Given the description of an element on the screen output the (x, y) to click on. 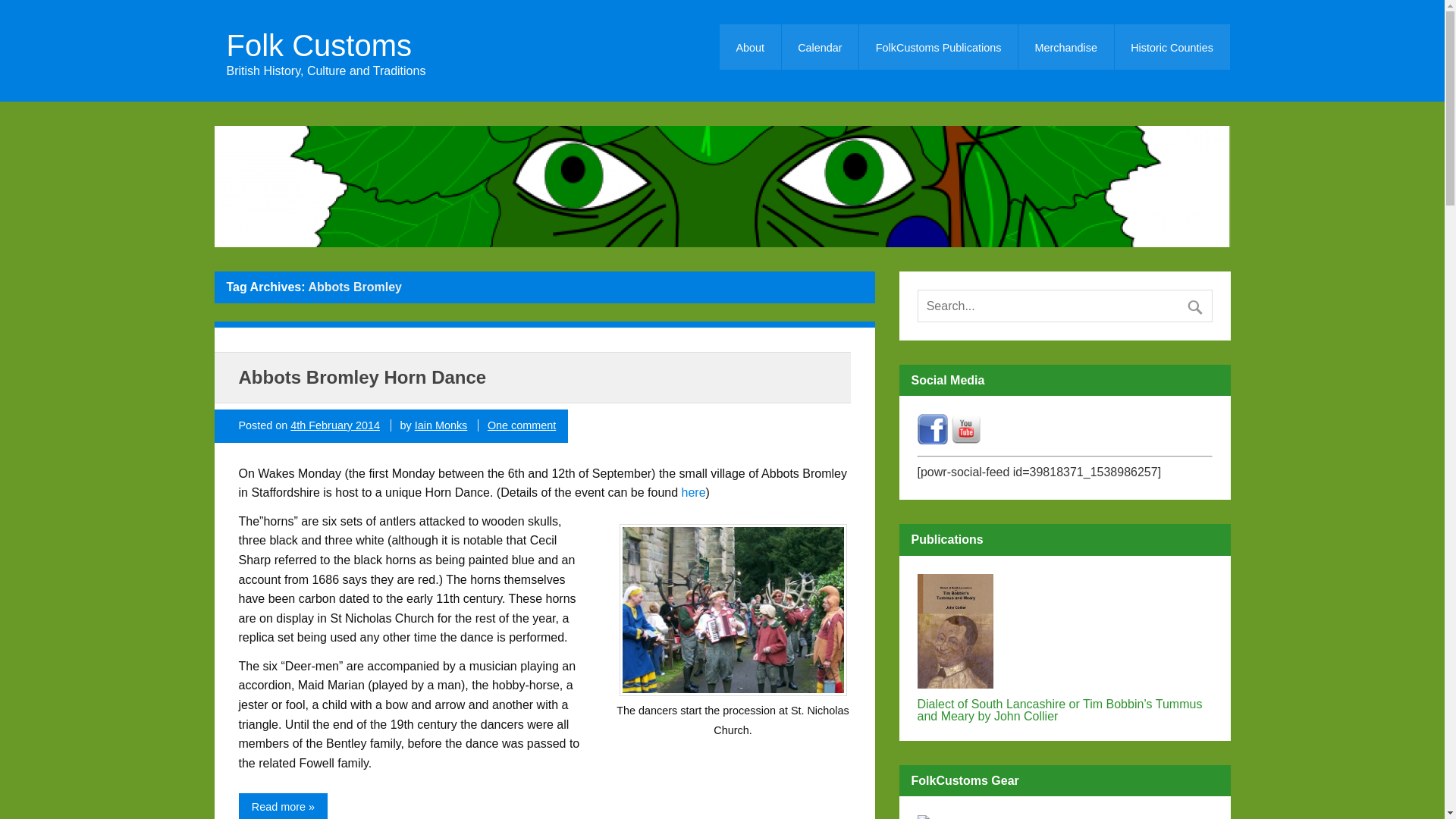
11:51 am (334, 425)
Historic Counties (1172, 46)
Iain Monks (440, 425)
Folk Customs (325, 45)
4th February 2014 (334, 425)
Abbots Bromley Horn Dance (362, 376)
About (749, 46)
here (693, 492)
Folk Customs (325, 45)
View all posts by Iain Monks (440, 425)
